Given the description of an element on the screen output the (x, y) to click on. 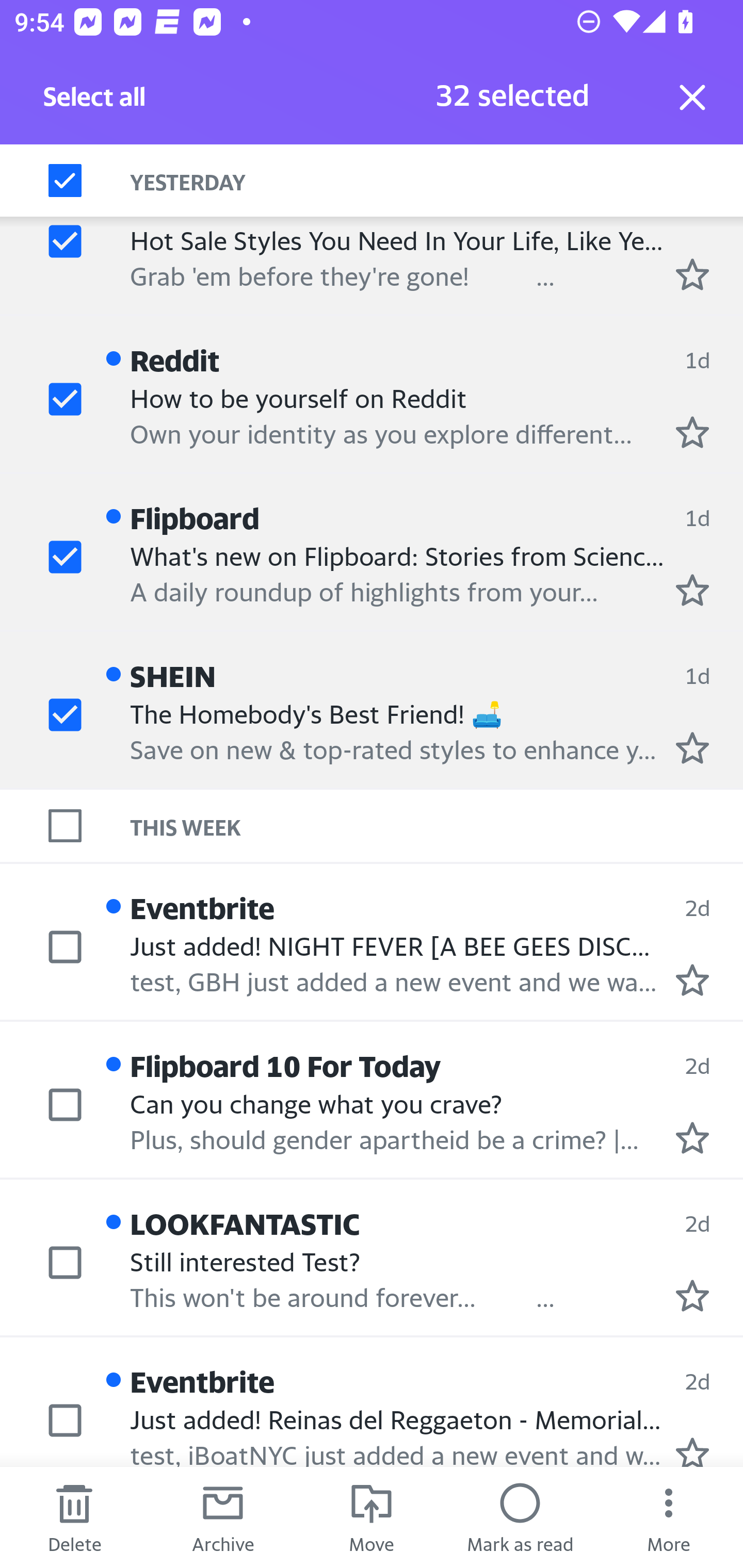
Exit selection mode (692, 97)
Select all (94, 101)
Mark as starred. (692, 274)
Mark as starred. (692, 431)
Mark as starred. (692, 590)
Mark as starred. (692, 747)
THIS WEEK (436, 825)
Mark as starred. (692, 979)
Mark as starred. (692, 1137)
Mark as starred. (692, 1295)
Mark as starred. (692, 1450)
Delete (74, 1517)
Archive (222, 1517)
Move (371, 1517)
Mark as read (519, 1517)
More (668, 1517)
